Given the description of an element on the screen output the (x, y) to click on. 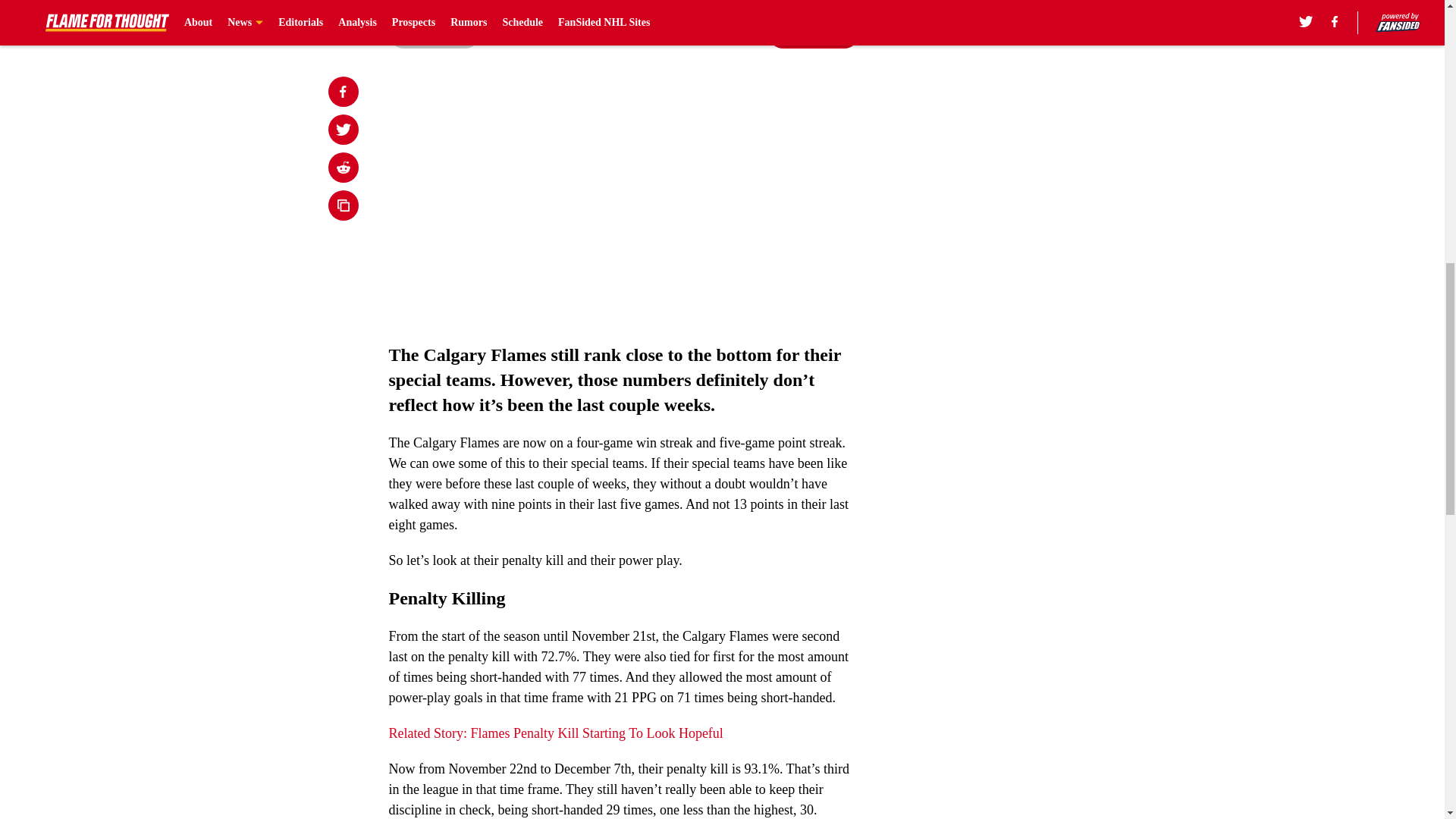
Prev (433, 33)
Related Story: Flames Penalty Kill Starting To Look Hopeful (555, 733)
Next (813, 33)
